Given the description of an element on the screen output the (x, y) to click on. 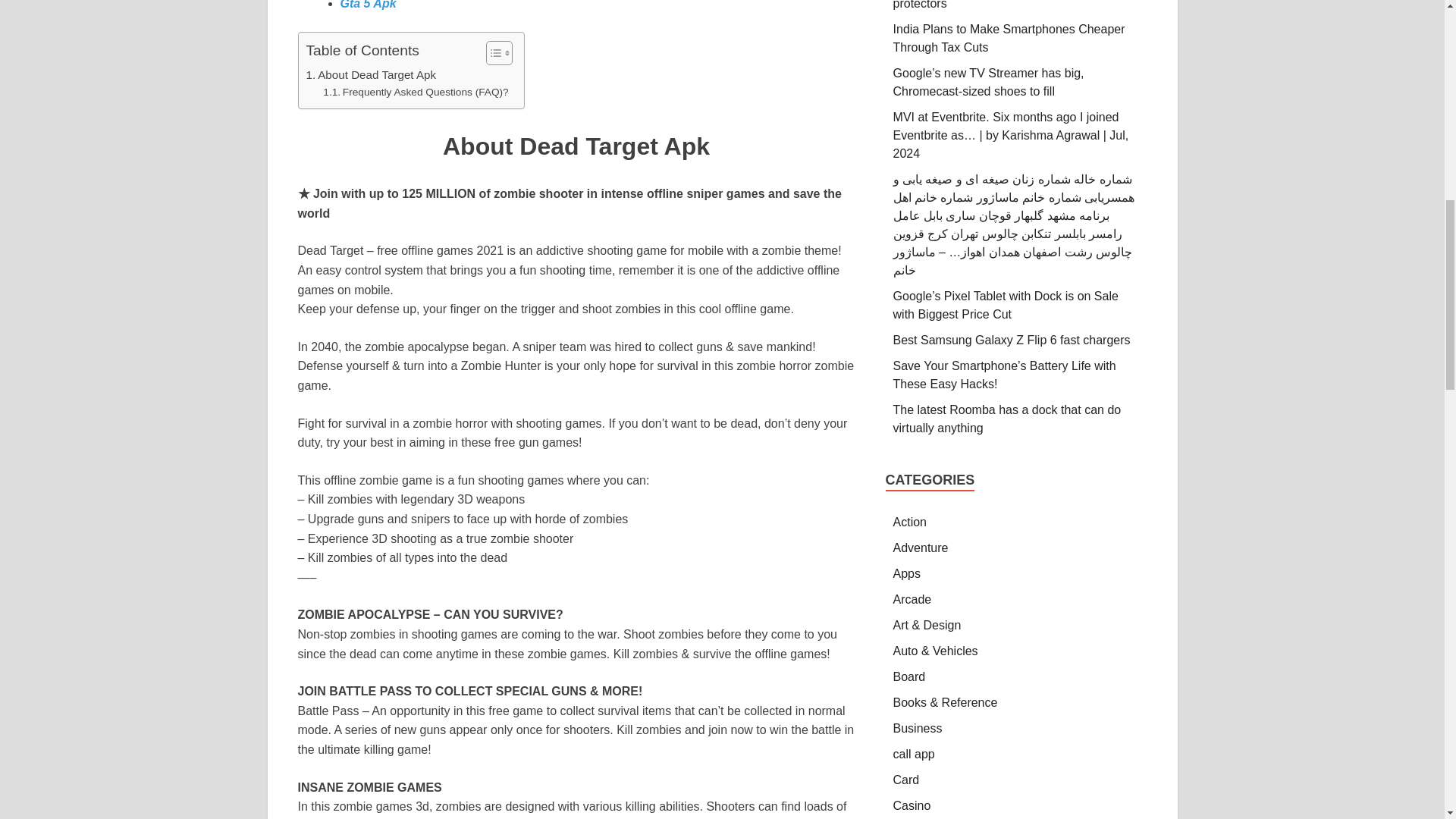
Gta 5 Apk (367, 4)
About Dead Target Apk (370, 75)
About Dead Target Apk (370, 75)
